Given the description of an element on the screen output the (x, y) to click on. 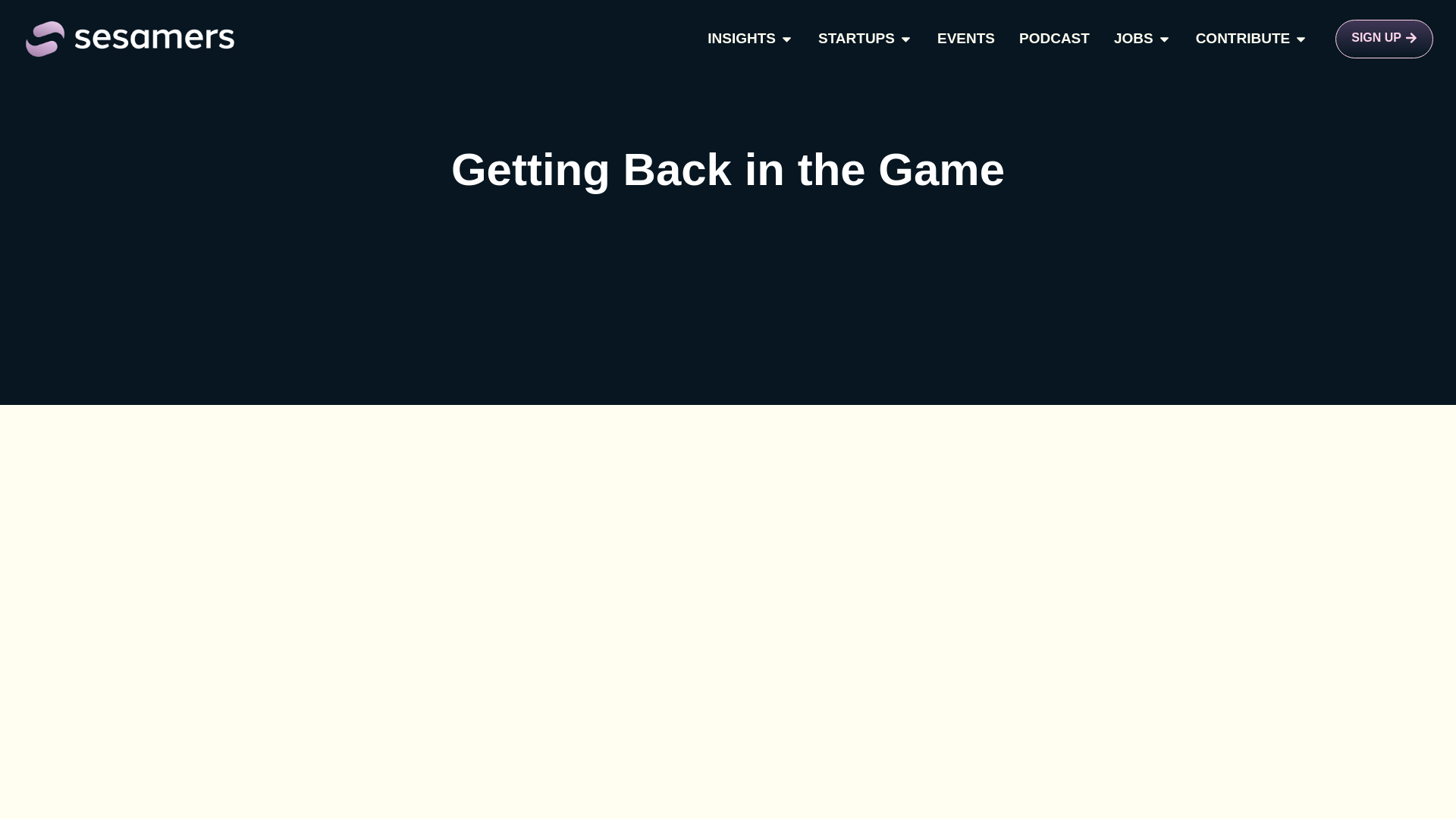
INSIGHTS (741, 38)
